Given the description of an element on the screen output the (x, y) to click on. 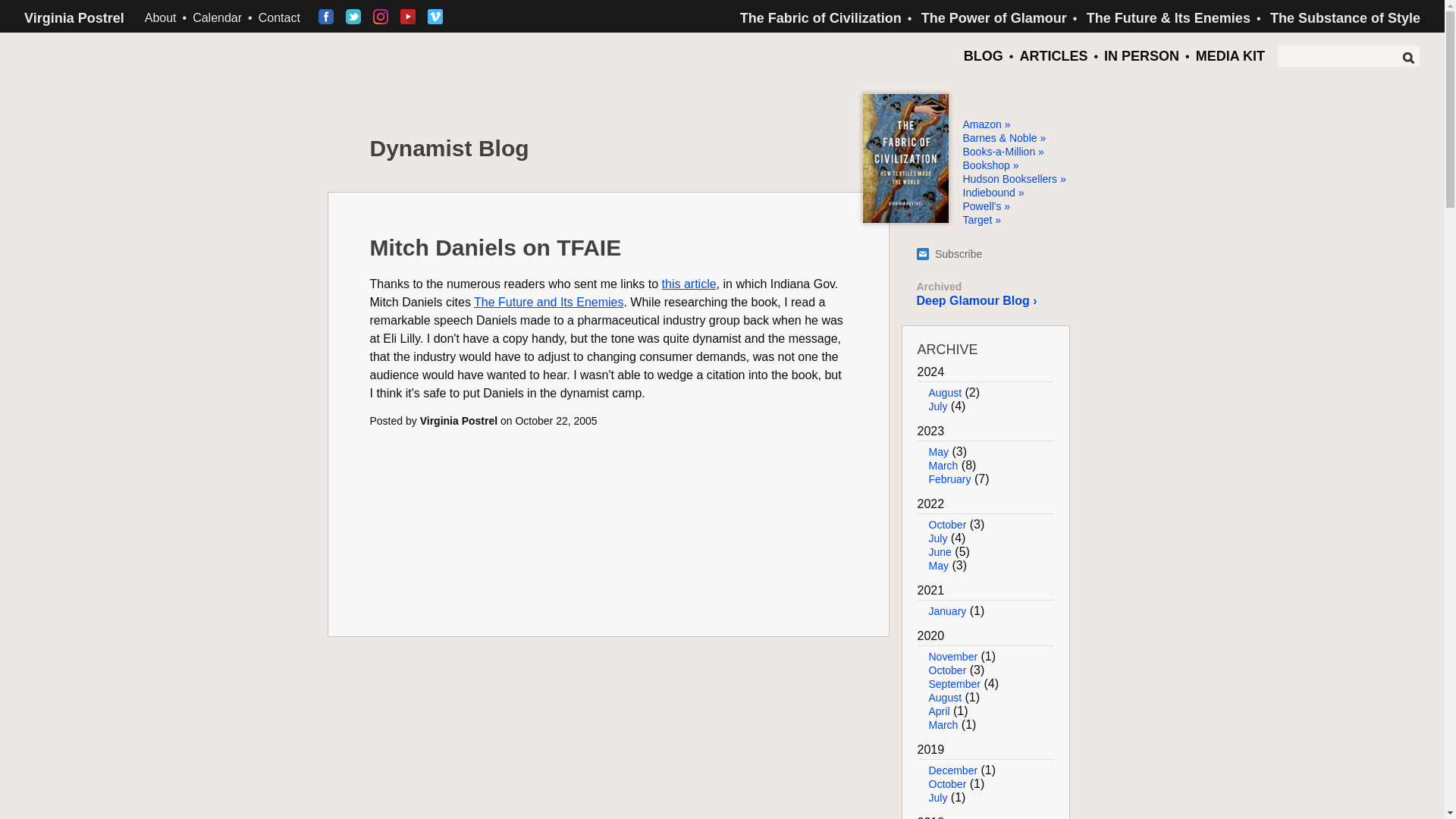
Facebook (325, 16)
Vimeo (435, 16)
YouTube (407, 16)
Search (1407, 57)
The Fabric of Civilization (820, 17)
The Substance of Style (1345, 17)
Dynamist Blog (449, 147)
The Future and Its Enemies (548, 301)
Calendar (216, 17)
MEDIA KIT (1230, 53)
